Given the description of an element on the screen output the (x, y) to click on. 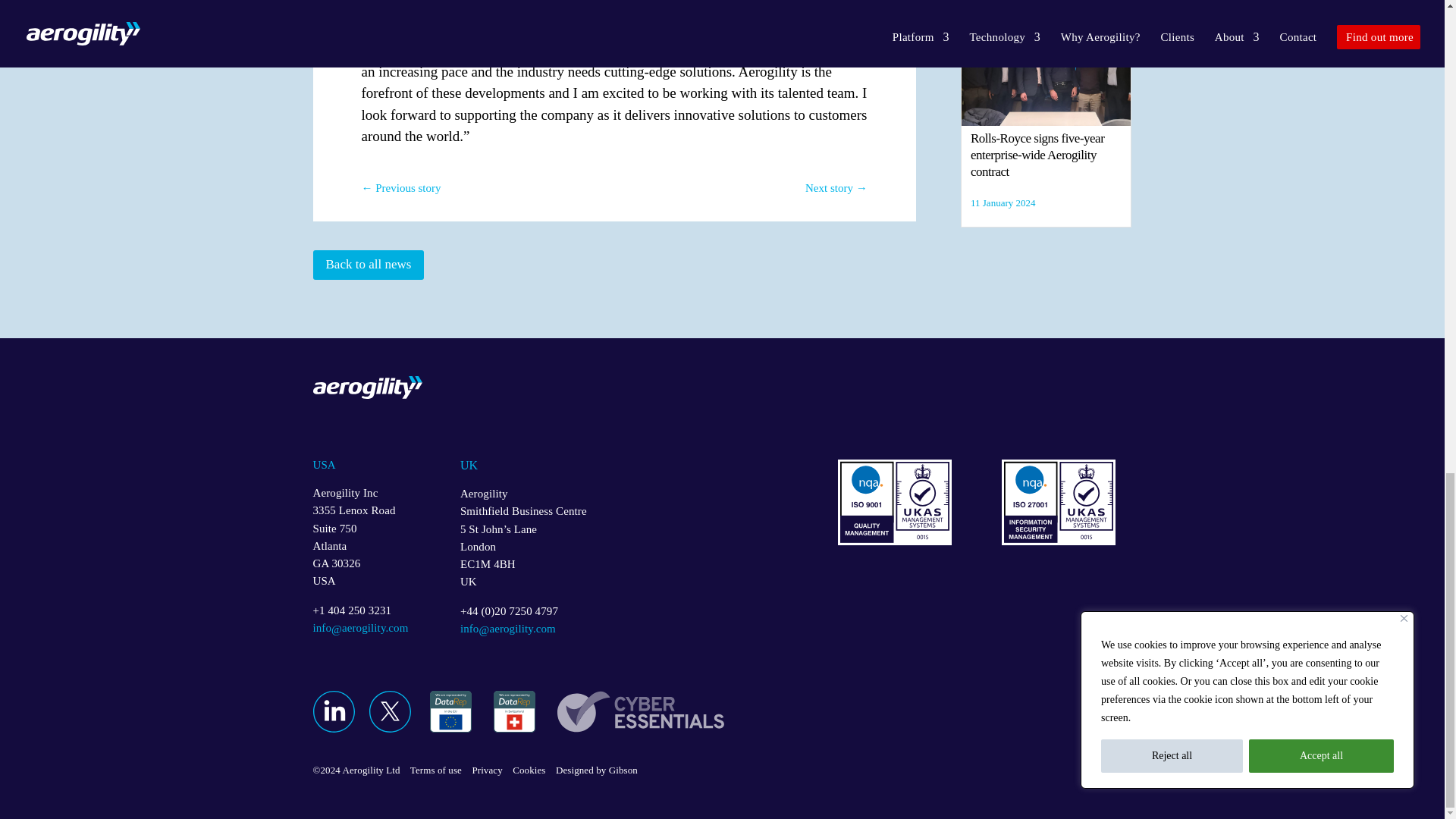
aero-twitter-icon-hover (449, 711)
aero-linkedin-icon-hover (333, 711)
aero-twitter-icon-hover (639, 711)
aero-twitter-icon-hover (513, 711)
aero-twitter-icon-hover (389, 711)
